Given the description of an element on the screen output the (x, y) to click on. 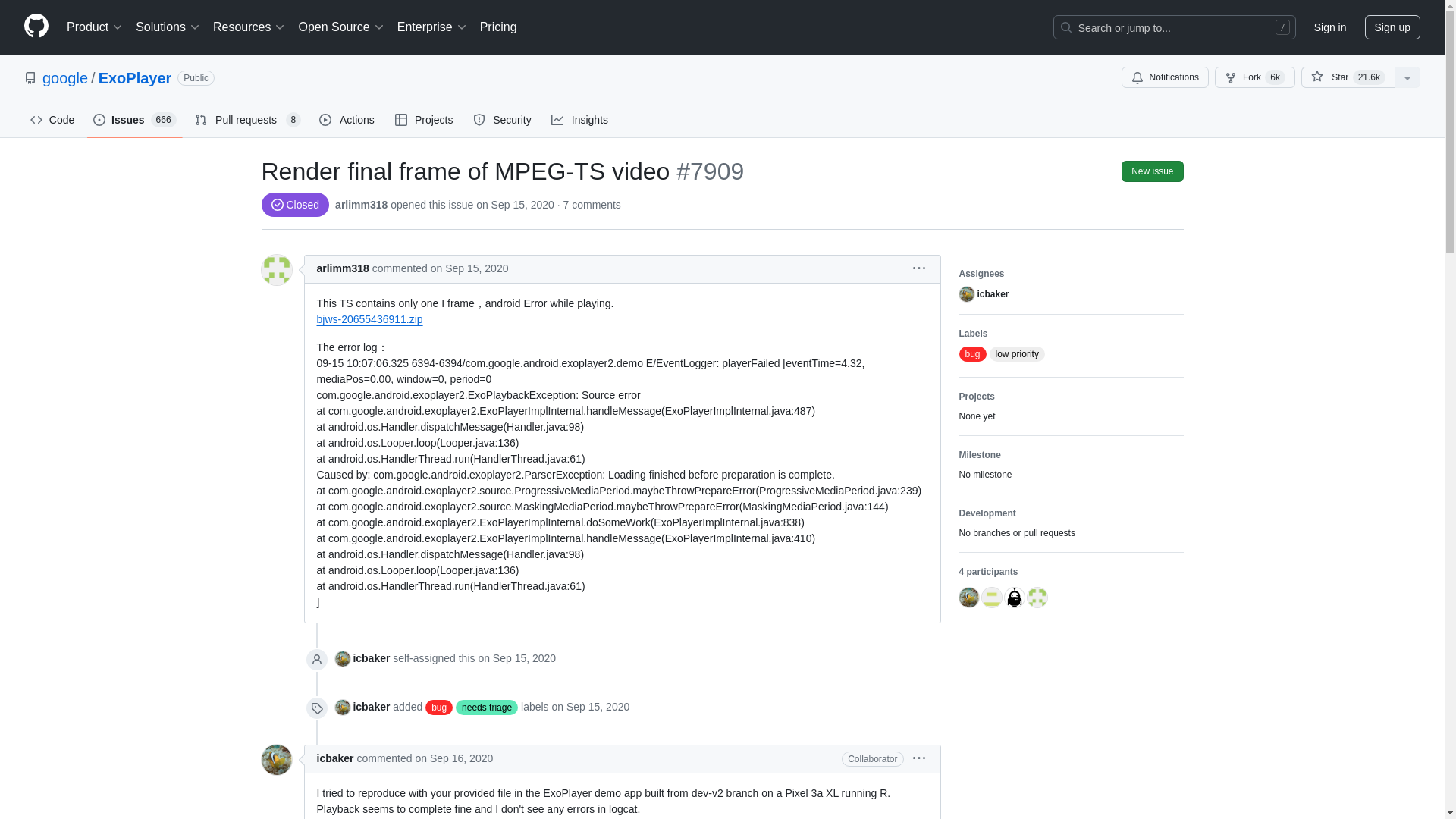
8 (293, 119)
666 (163, 119)
Solutions (167, 27)
21,644 (1369, 77)
Product (95, 27)
6,004 (1275, 77)
Open Source (341, 27)
Resources (249, 27)
Status: Closed (294, 204)
